Given the description of an element on the screen output the (x, y) to click on. 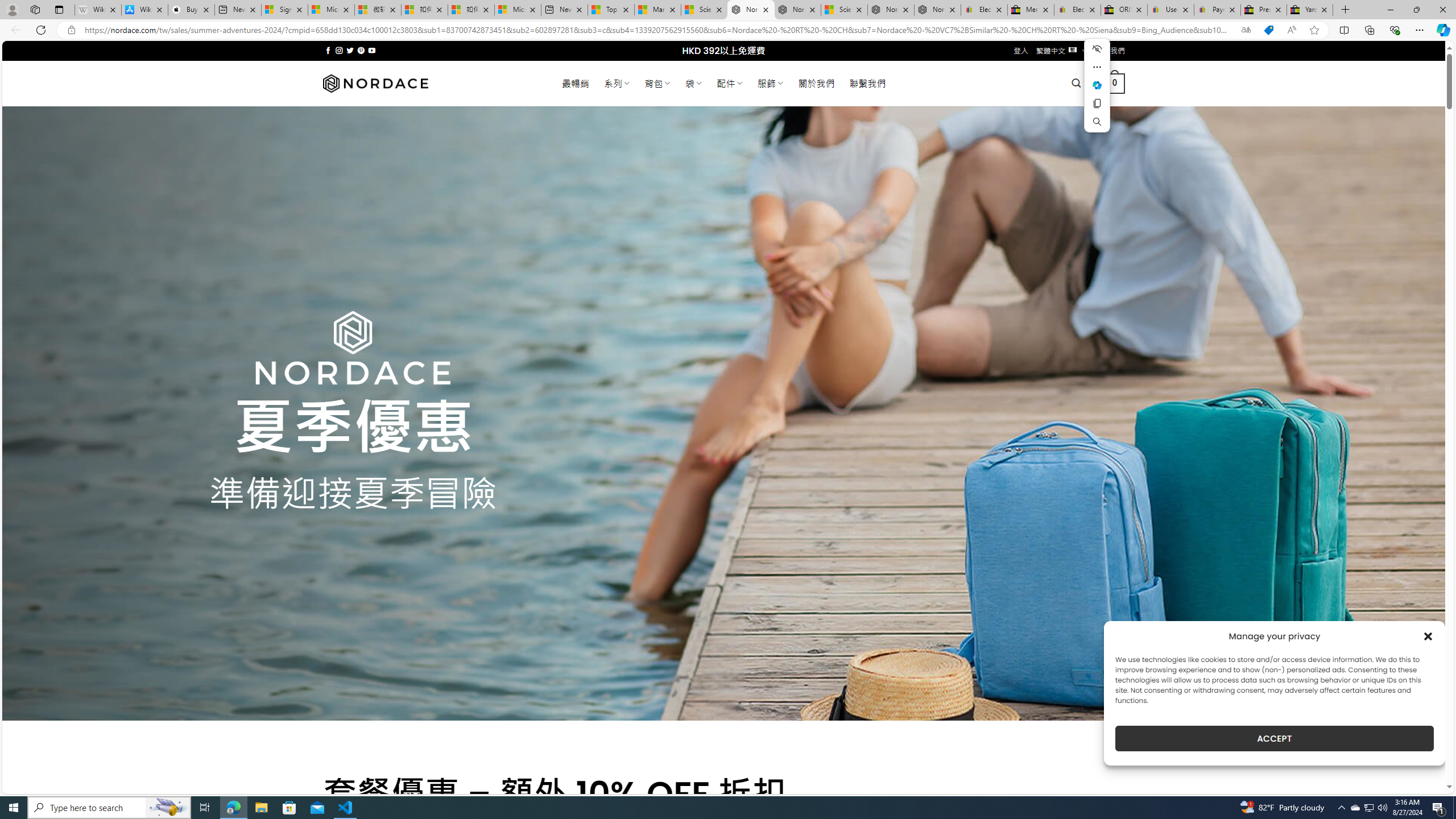
 0  (1115, 83)
Follow on Facebook (327, 50)
Follow on Pinterest (360, 50)
User Privacy Notice | eBay (1170, 9)
